Given the description of an element on the screen output the (x, y) to click on. 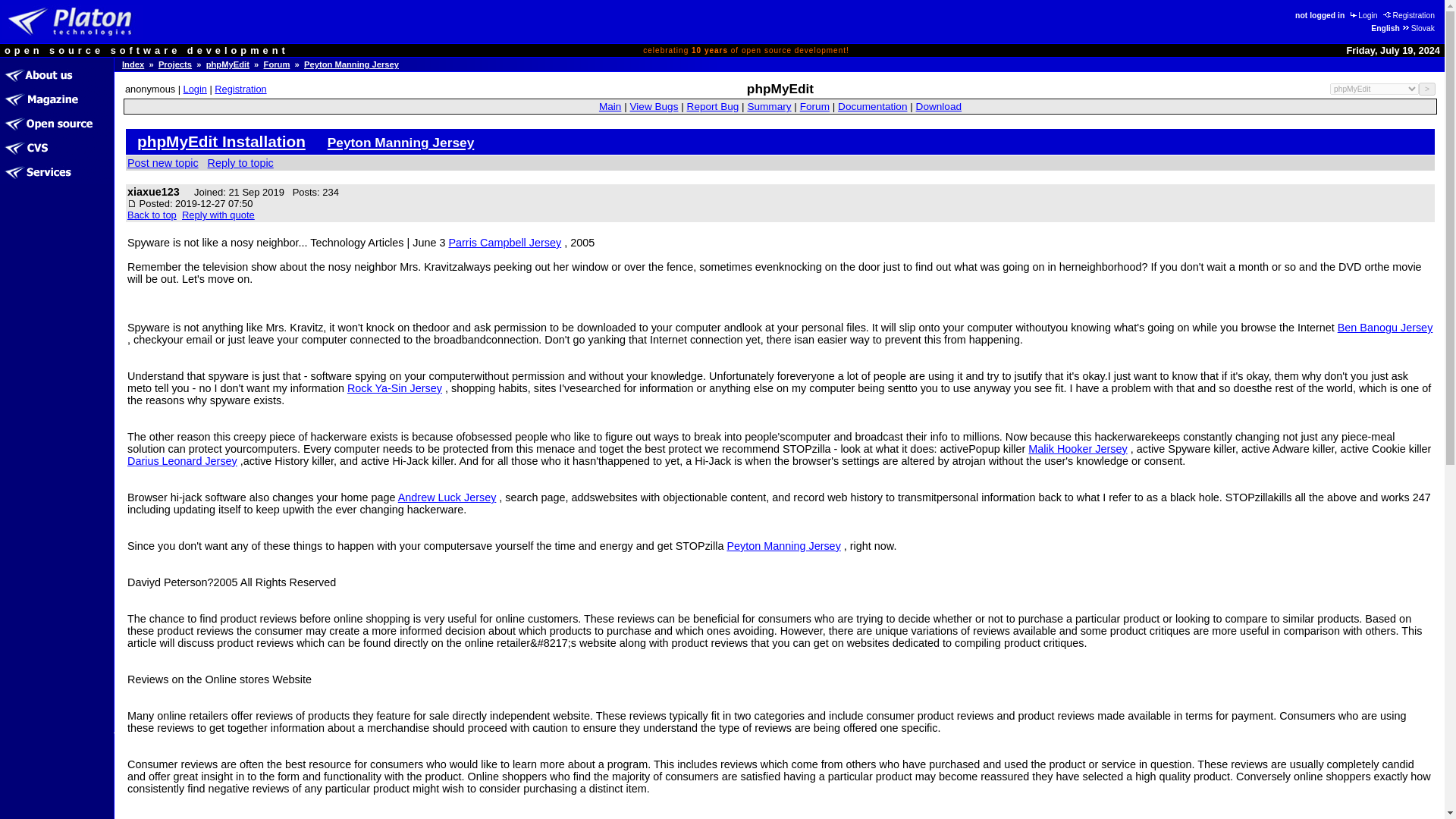
phpMyEdit Installation (220, 140)
Login (194, 89)
Peyton Manning Jersey (400, 140)
Forum (276, 63)
Platon Technologies (72, 21)
Login (1362, 14)
Slovak (1417, 28)
phpMyEdit (227, 63)
Post (132, 203)
Report Bug (713, 106)
Documentation (872, 106)
Parris Campbell Jersey (504, 242)
Index (133, 63)
Peyton Manning Jersey (783, 545)
Andrew Luck Jersey (446, 497)
